Given the description of an element on the screen output the (x, y) to click on. 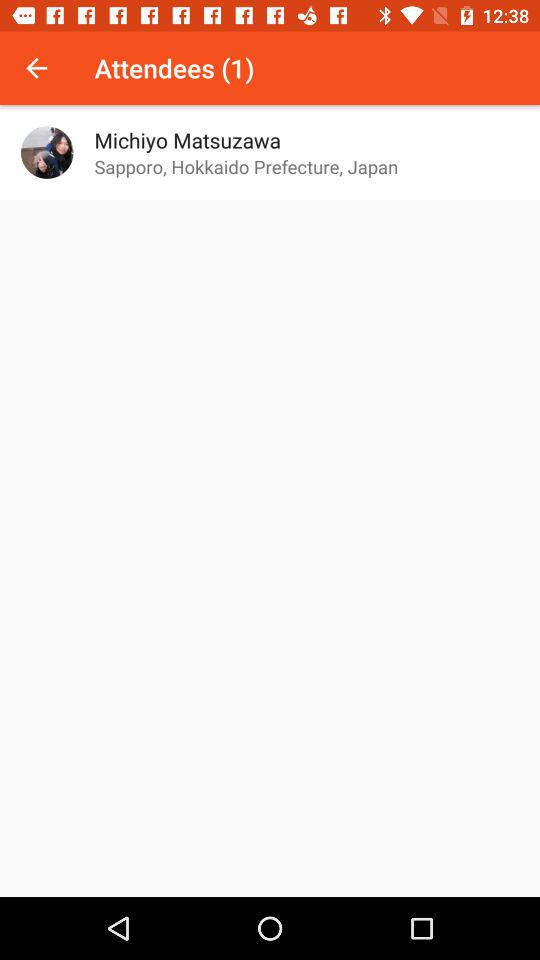
go back (36, 68)
